Given the description of an element on the screen output the (x, y) to click on. 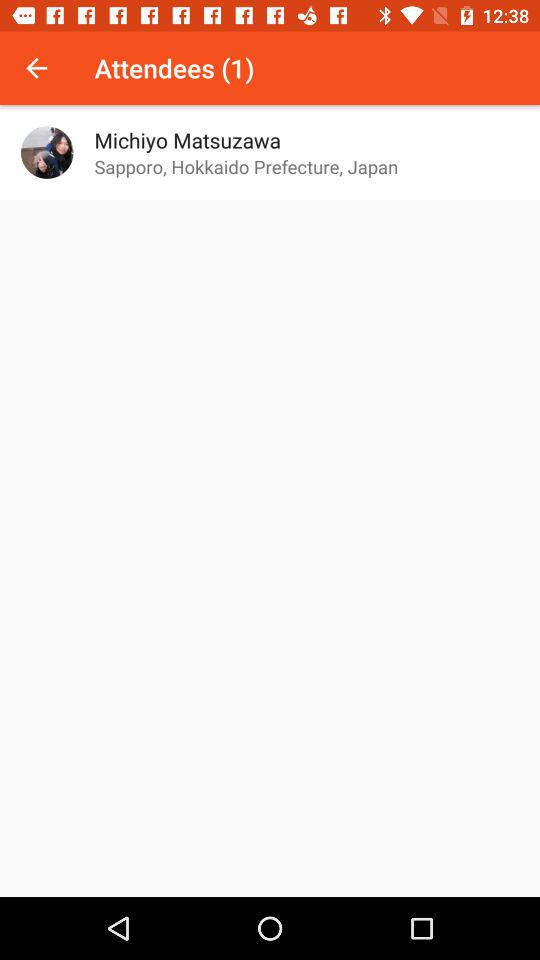
go back (36, 68)
